Given the description of an element on the screen output the (x, y) to click on. 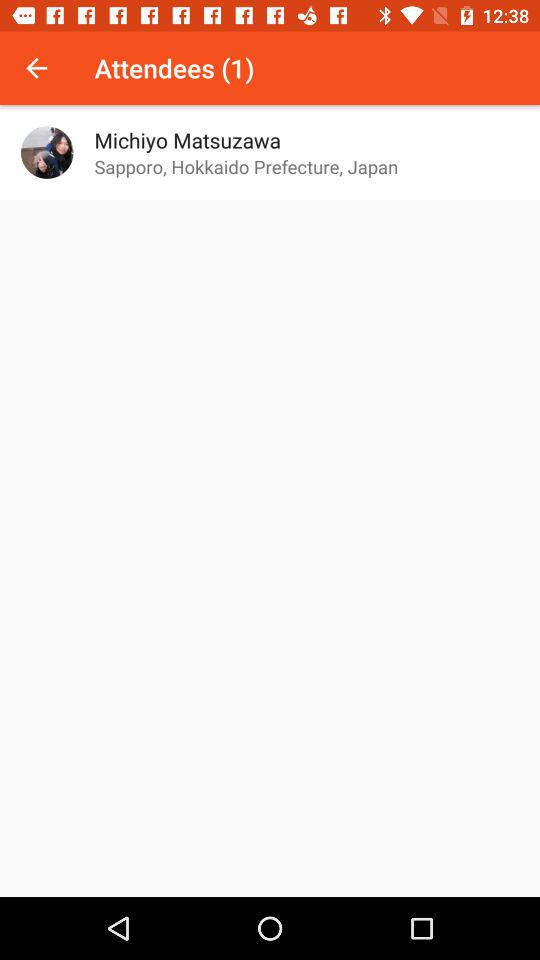
go back (36, 68)
